Given the description of an element on the screen output the (x, y) to click on. 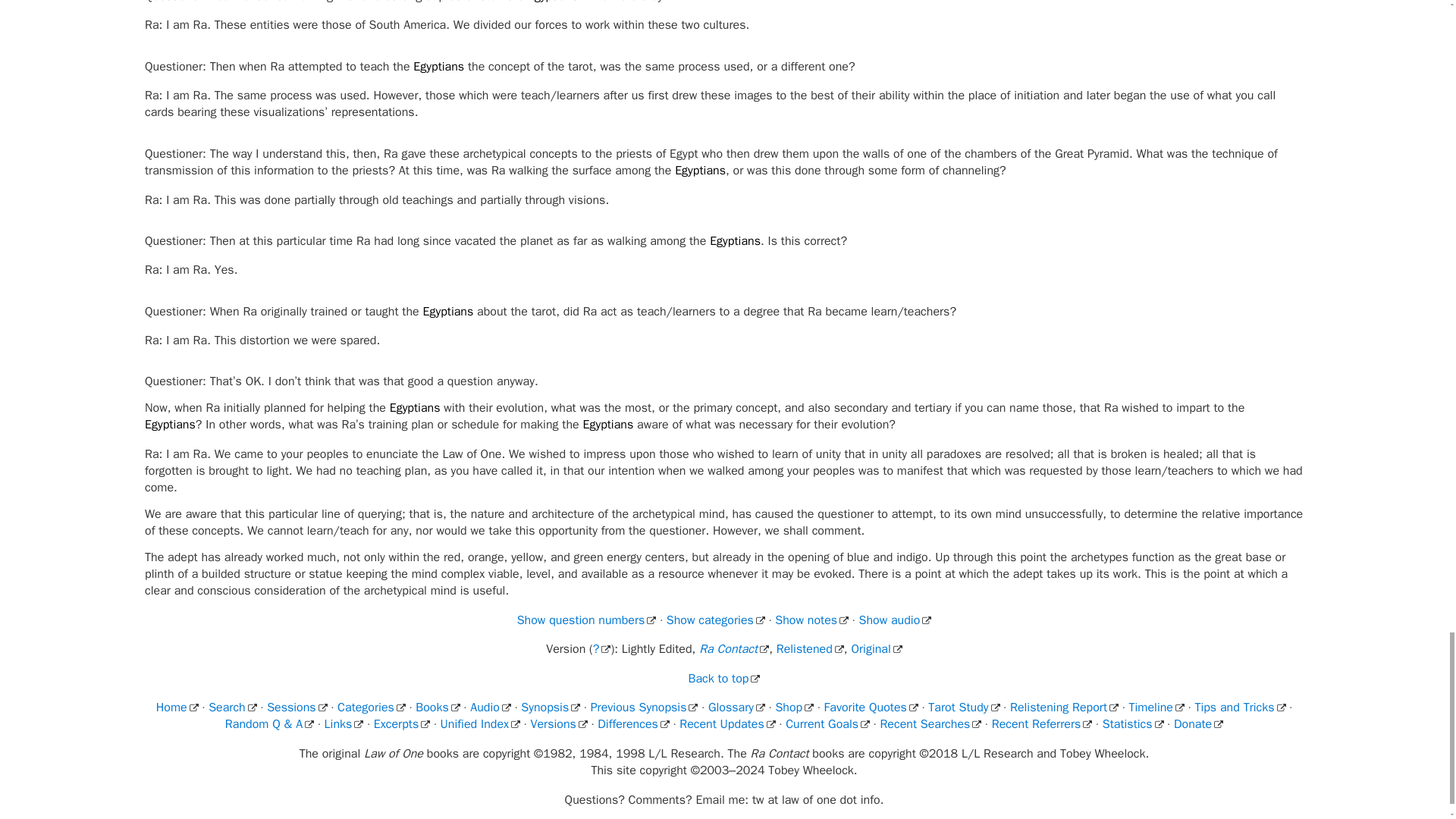
Relistened (810, 648)
Sessions (296, 707)
Glossary (736, 707)
? (601, 648)
Favorite Quotes (871, 707)
Show audio (895, 620)
Show categories (715, 620)
Audio (490, 707)
Books (437, 707)
Synopsis (550, 707)
Previous Synopsis (644, 707)
Original (875, 648)
Shop (793, 707)
Categories (371, 707)
Search (232, 707)
